Given the description of an element on the screen output the (x, y) to click on. 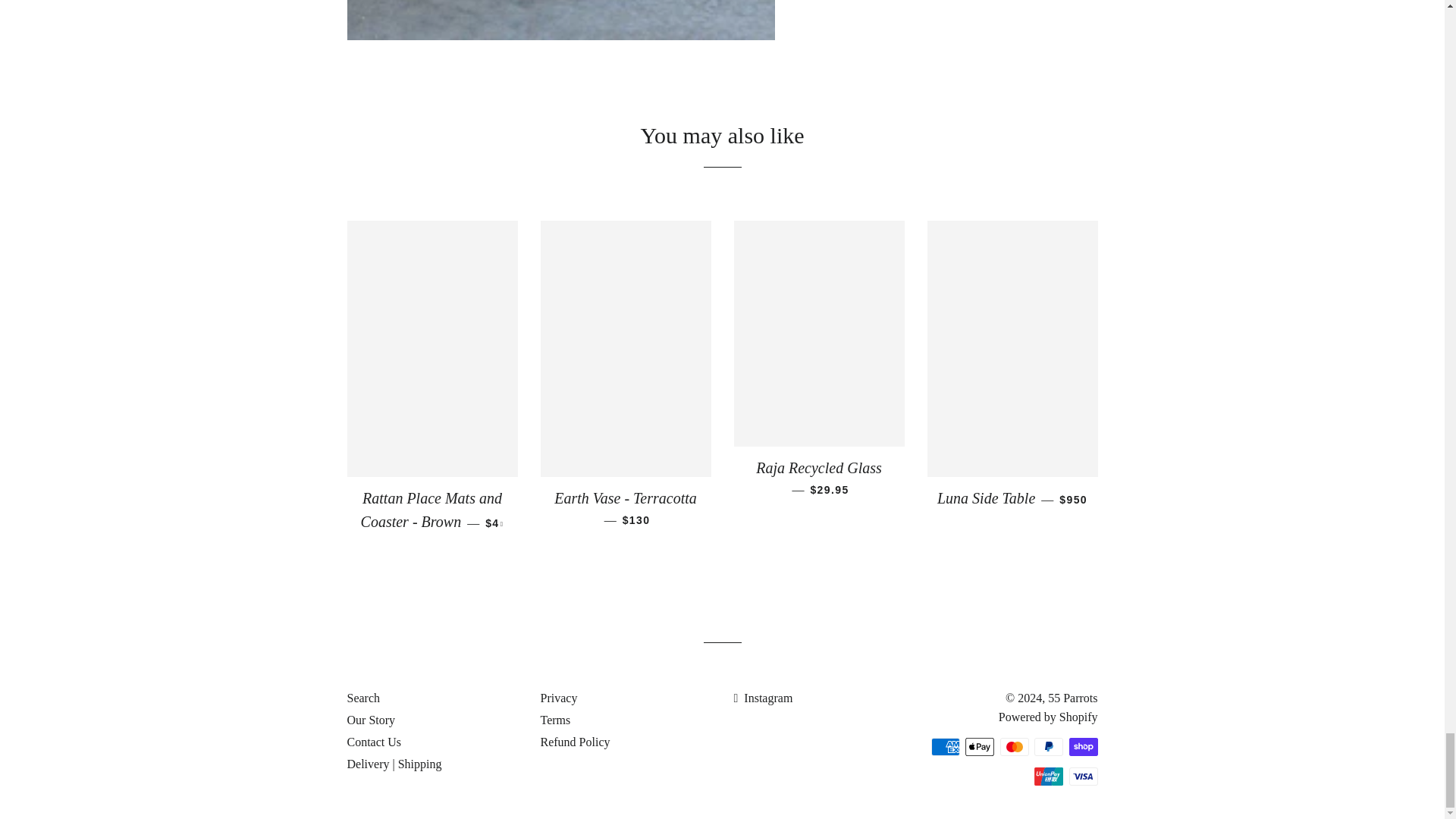
Mastercard (1012, 746)
Union Pay (1047, 776)
PayPal (1047, 746)
55 Parrots on Instagram (763, 697)
Apple Pay (979, 746)
American Express (945, 746)
Visa (1082, 776)
Shop Pay (1082, 746)
